Given the description of an element on the screen output the (x, y) to click on. 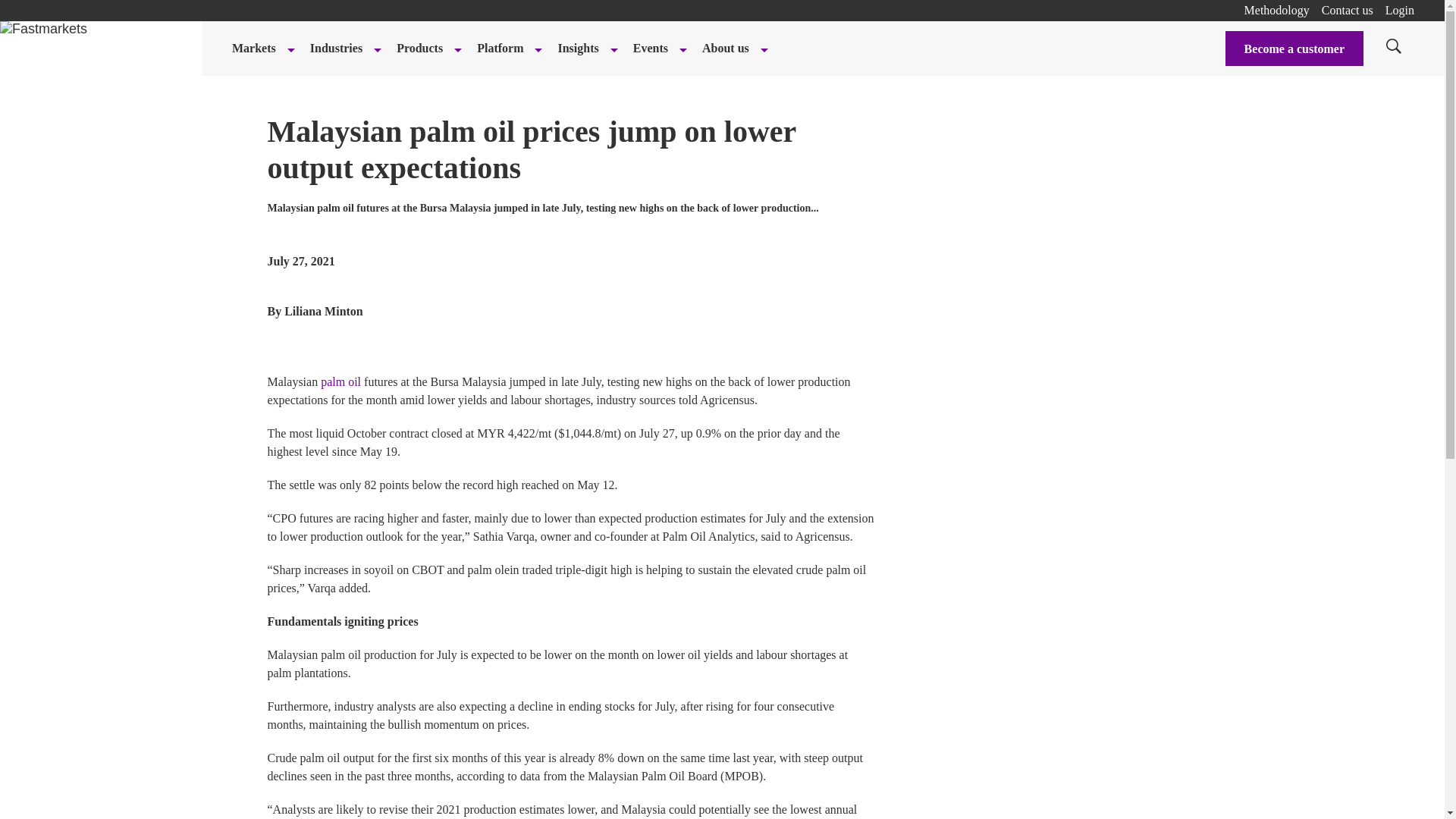
Login (1399, 10)
Methodology (1276, 10)
Contact us (1347, 10)
